Given the description of an element on the screen output the (x, y) to click on. 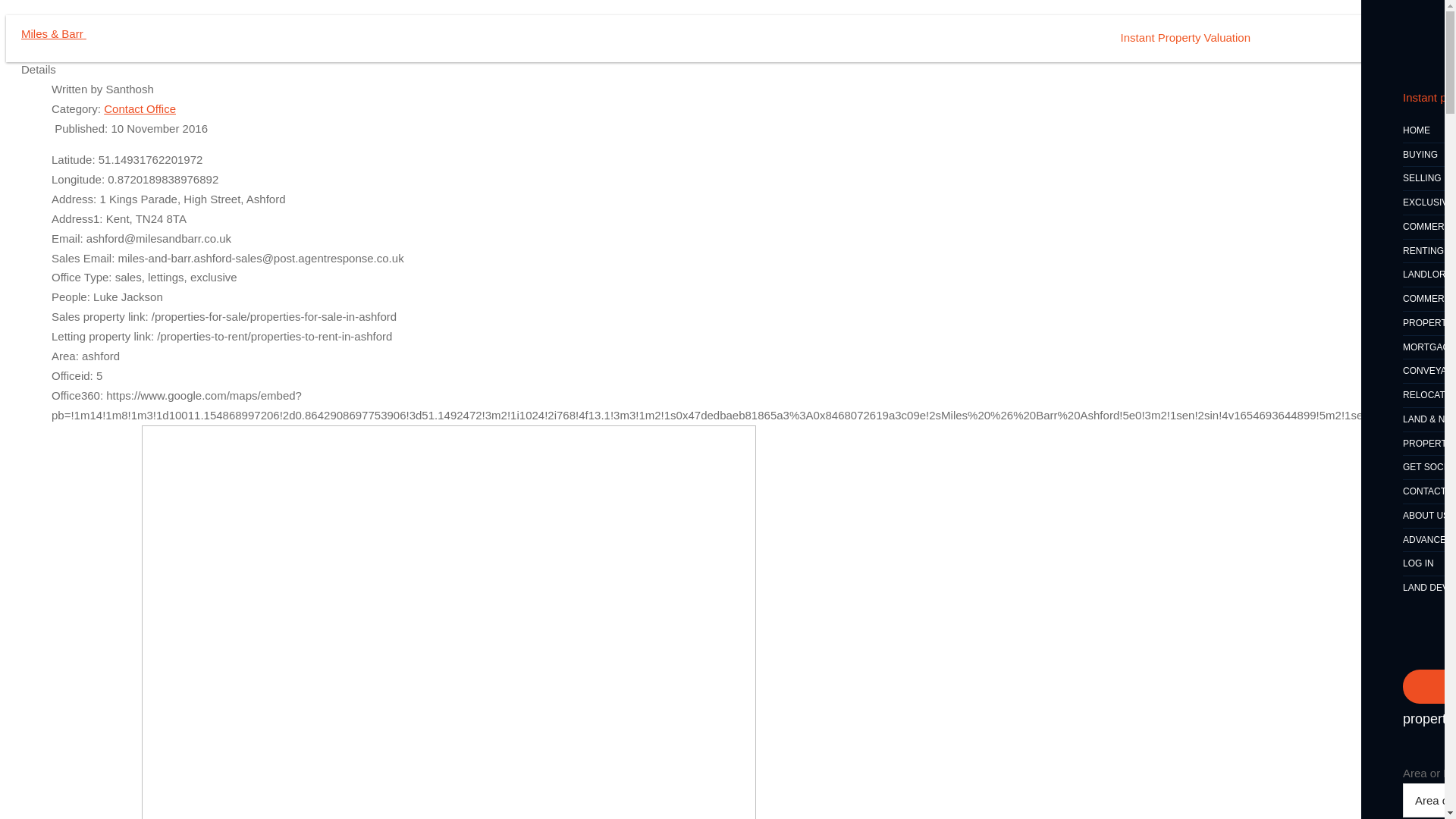
MENU (1382, 39)
Contact Office (139, 108)
Instant Property Valuation (1185, 37)
